Given the description of an element on the screen output the (x, y) to click on. 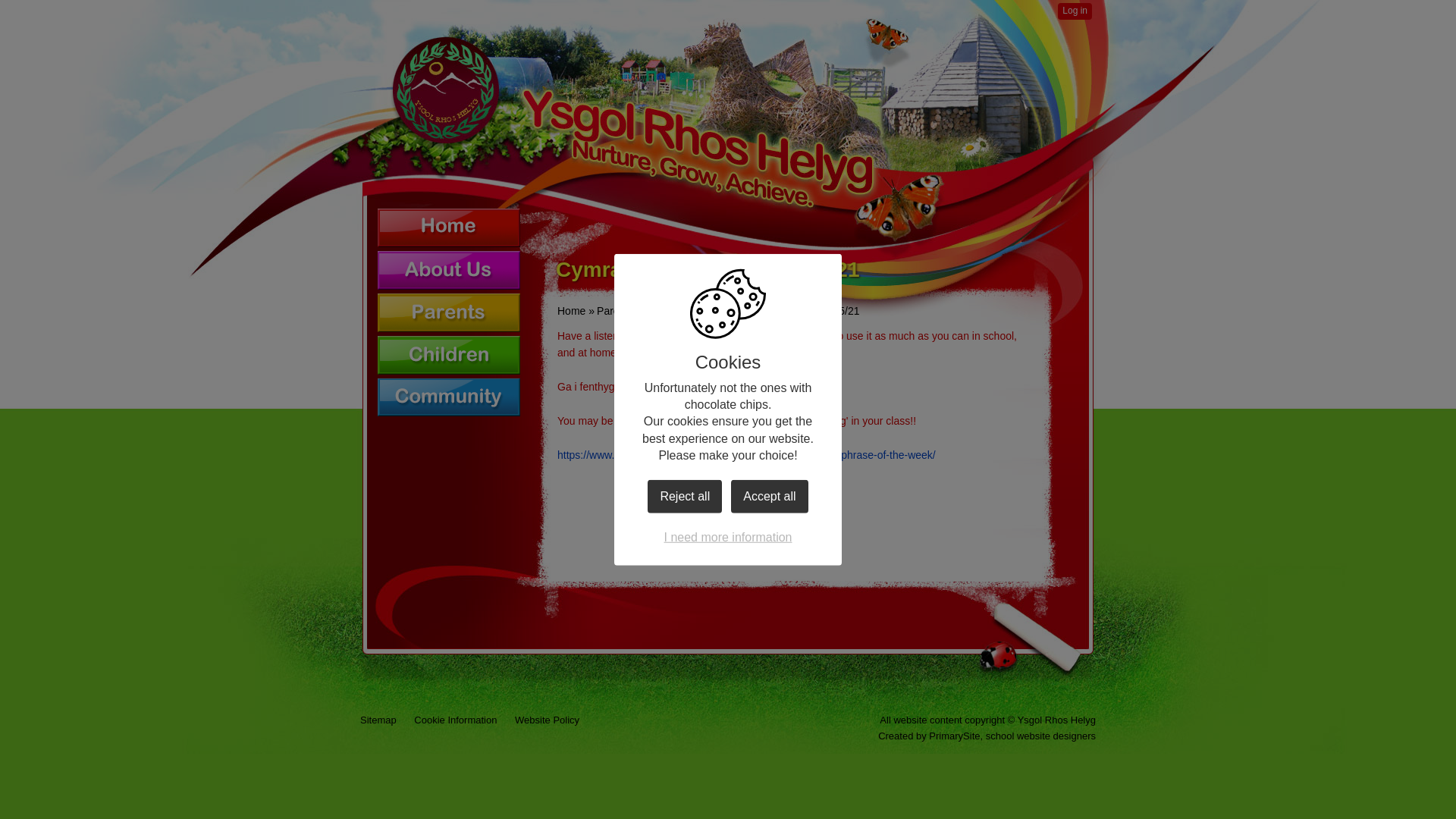
Home (571, 310)
About Us (448, 270)
Home Page (633, 121)
Latest News (674, 310)
Home (448, 228)
Parents (614, 310)
Parents (448, 312)
Home Page (633, 121)
Log in (1075, 11)
